Given the description of an element on the screen output the (x, y) to click on. 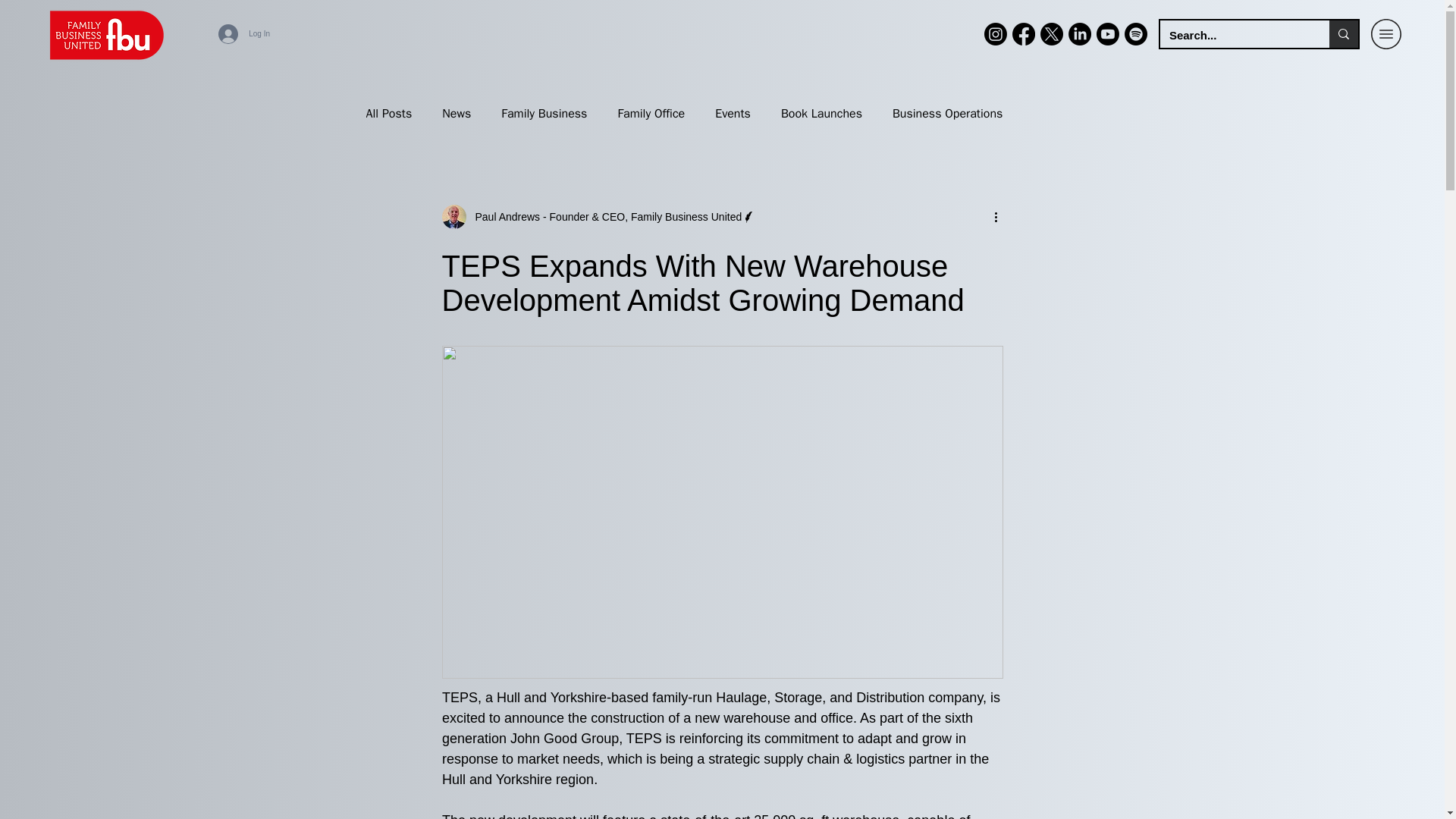
Log In (244, 33)
Book Launches (820, 114)
Events (732, 114)
Family Business (543, 114)
All Posts (388, 114)
News (456, 114)
Business Operations (947, 114)
Family Office (650, 114)
